Given the description of an element on the screen output the (x, y) to click on. 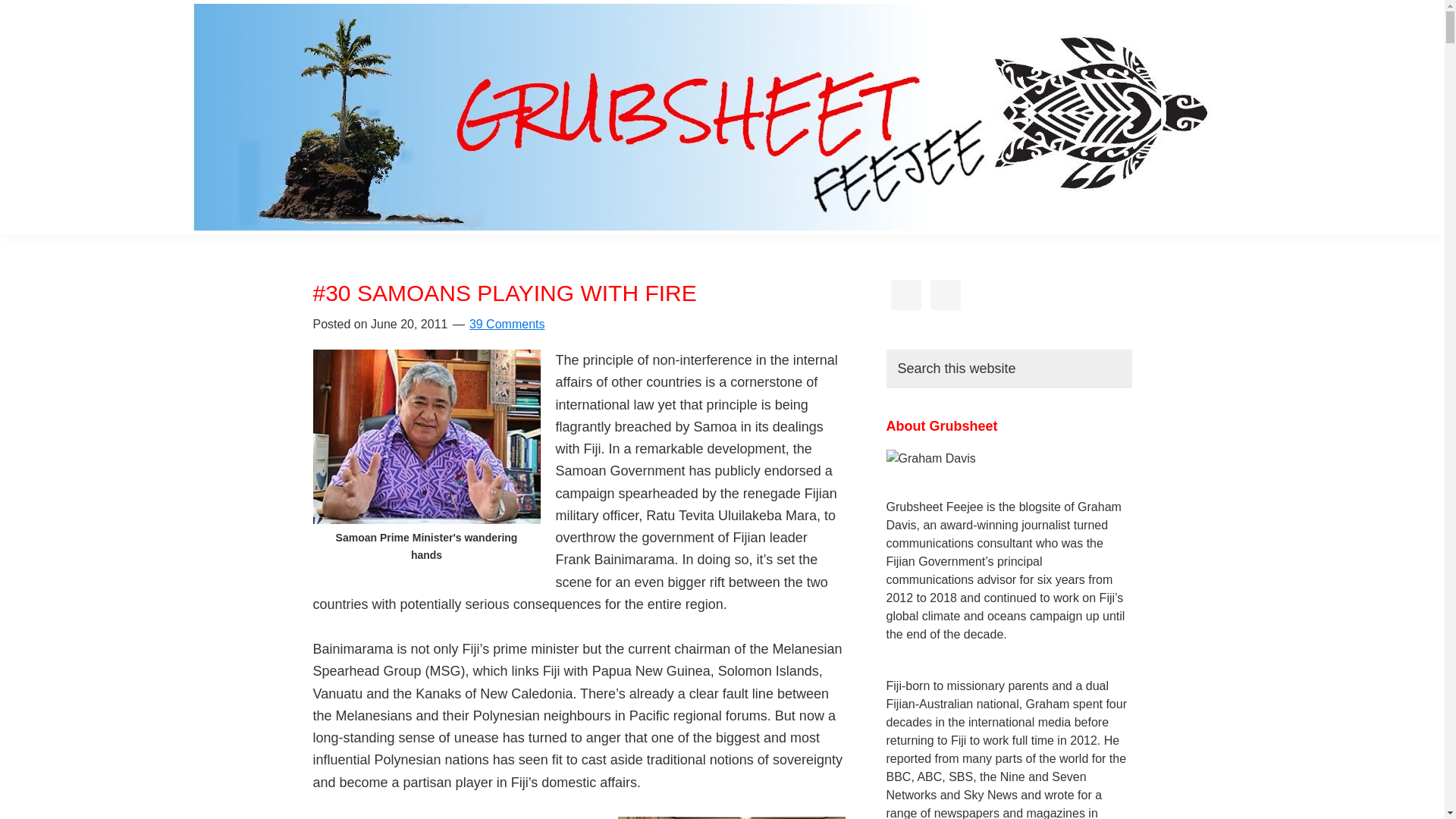
39 Comments (506, 323)
